Given the description of an element on the screen output the (x, y) to click on. 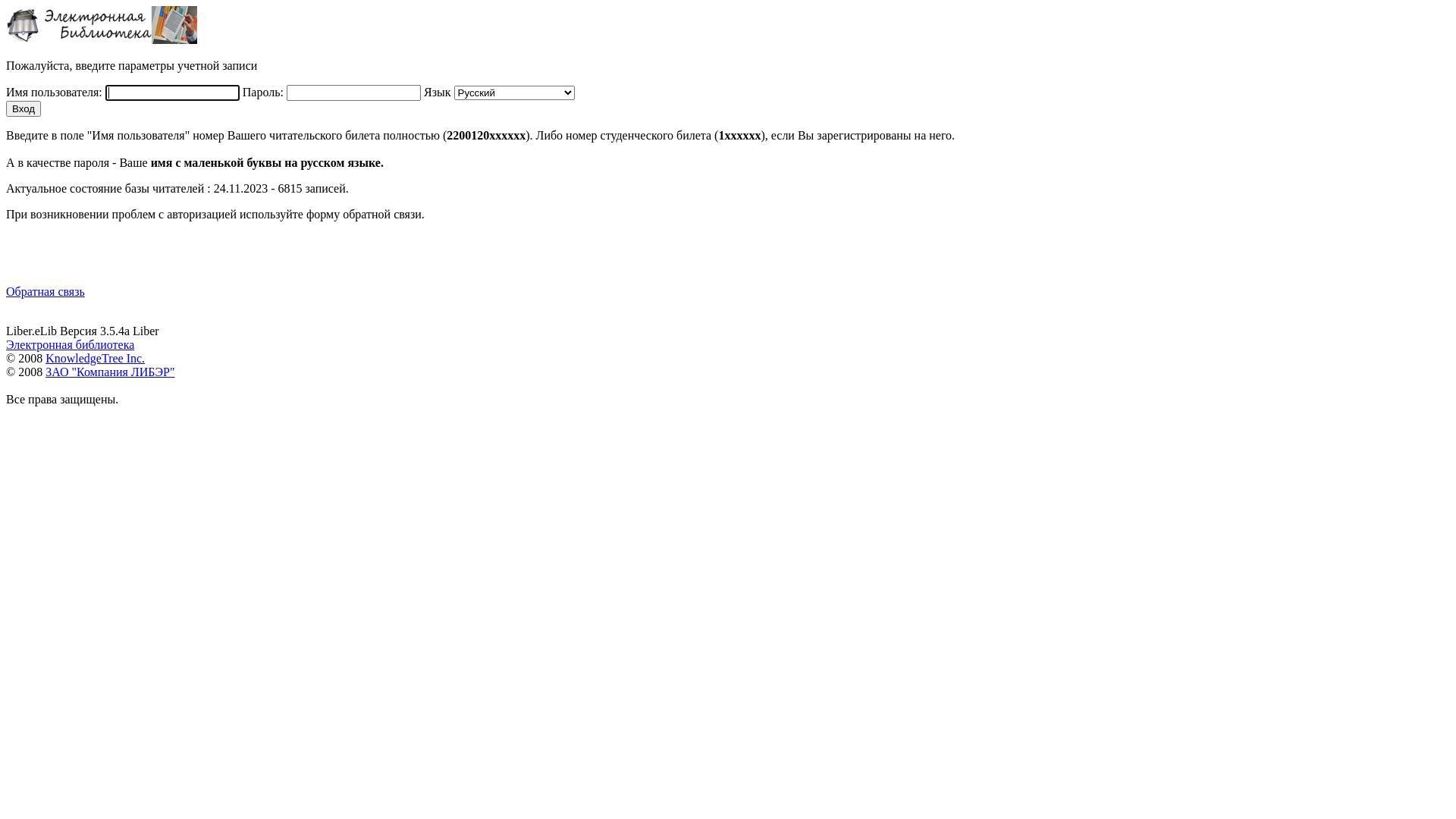
KnowledgeTree Inc. Element type: text (94, 357)
